Given the description of an element on the screen output the (x, y) to click on. 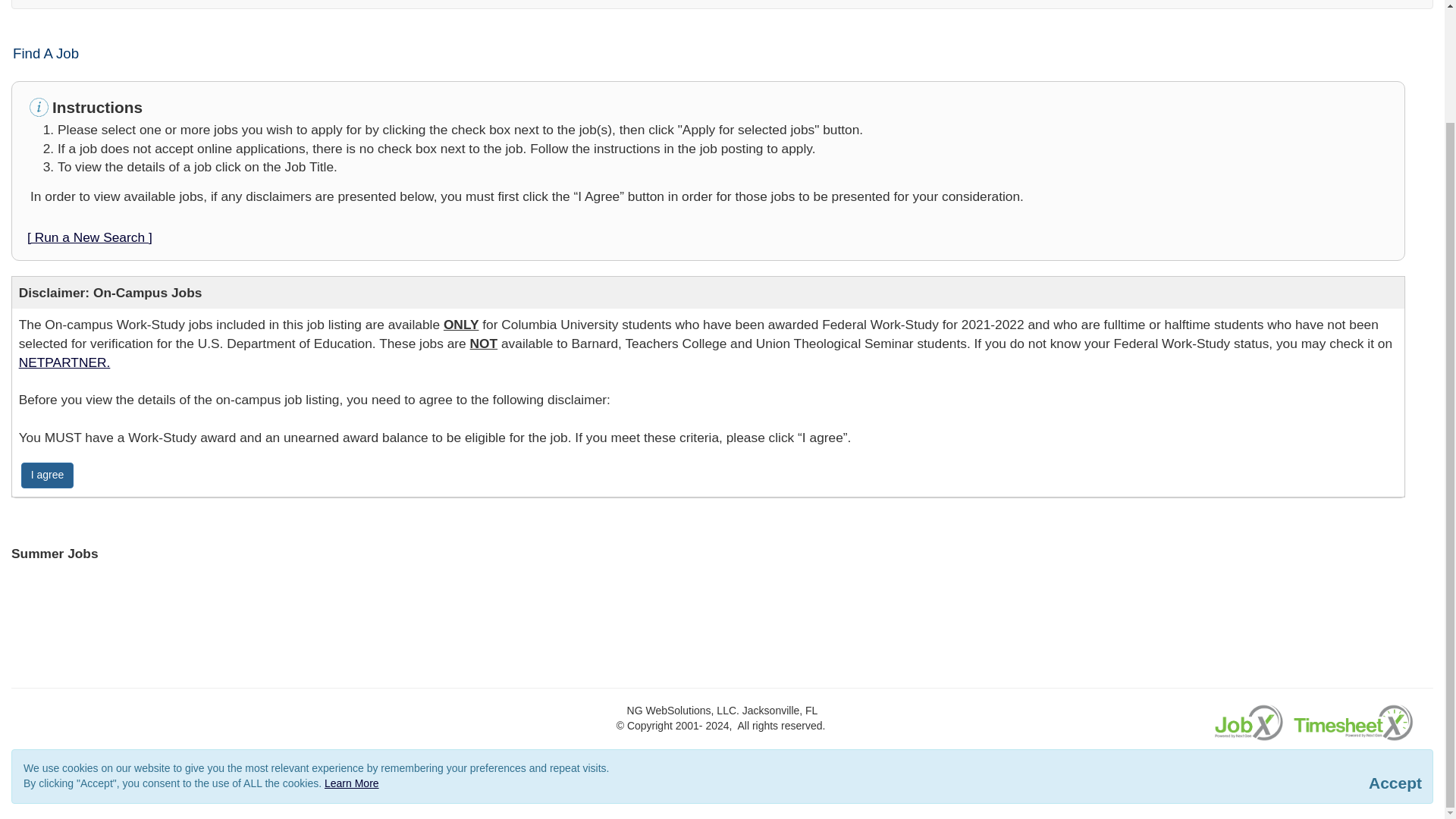
Learn More (351, 783)
NETPARTNER. (64, 362)
Accept (1395, 782)
Students (110, 4)
I agree (47, 475)
